Given the description of an element on the screen output the (x, y) to click on. 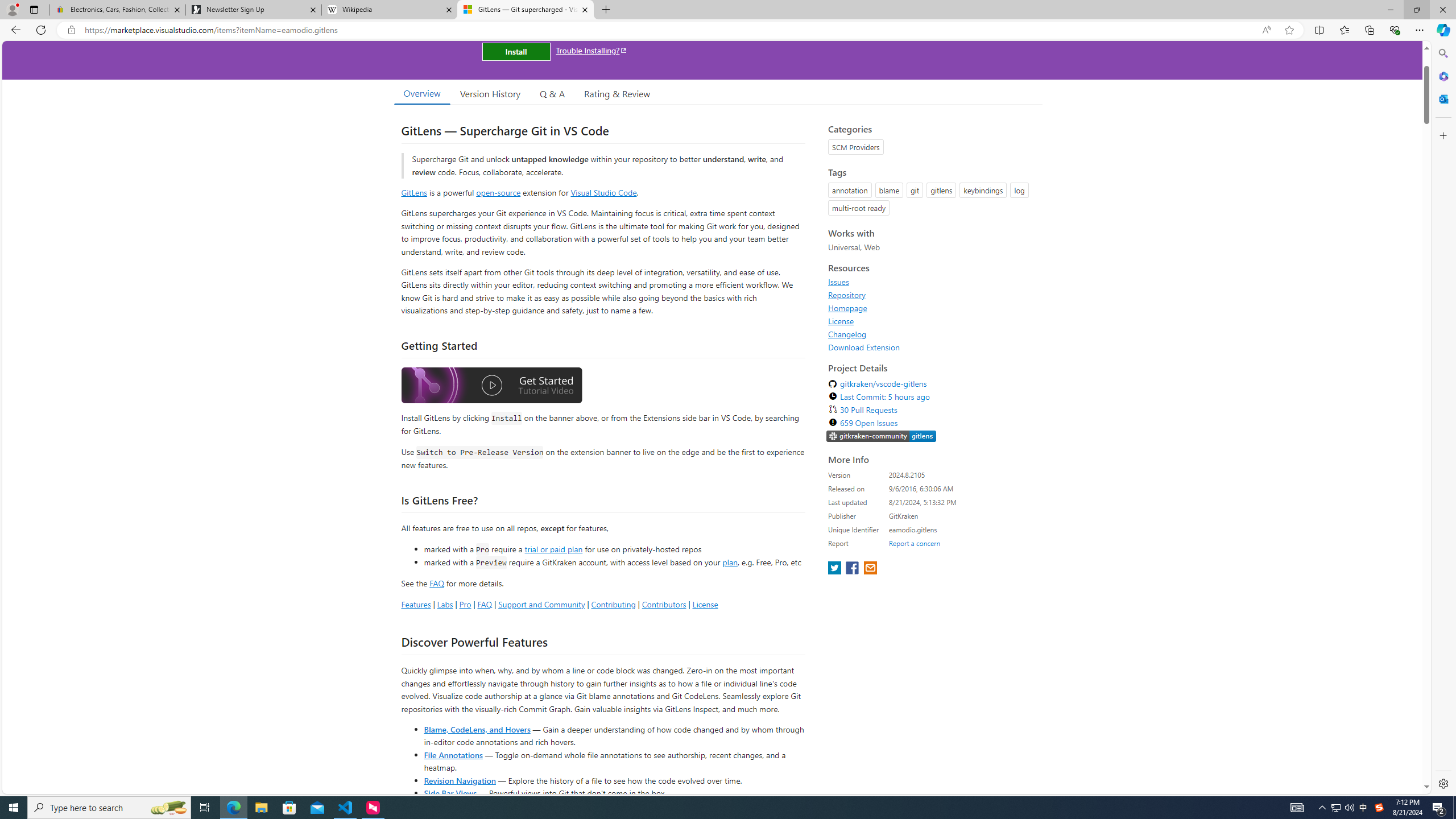
File Annotations (453, 754)
Features (415, 603)
Blame, CodeLens, and Hovers (476, 728)
Support and Community (541, 603)
Issues (838, 281)
Pro (464, 603)
